Given the description of an element on the screen output the (x, y) to click on. 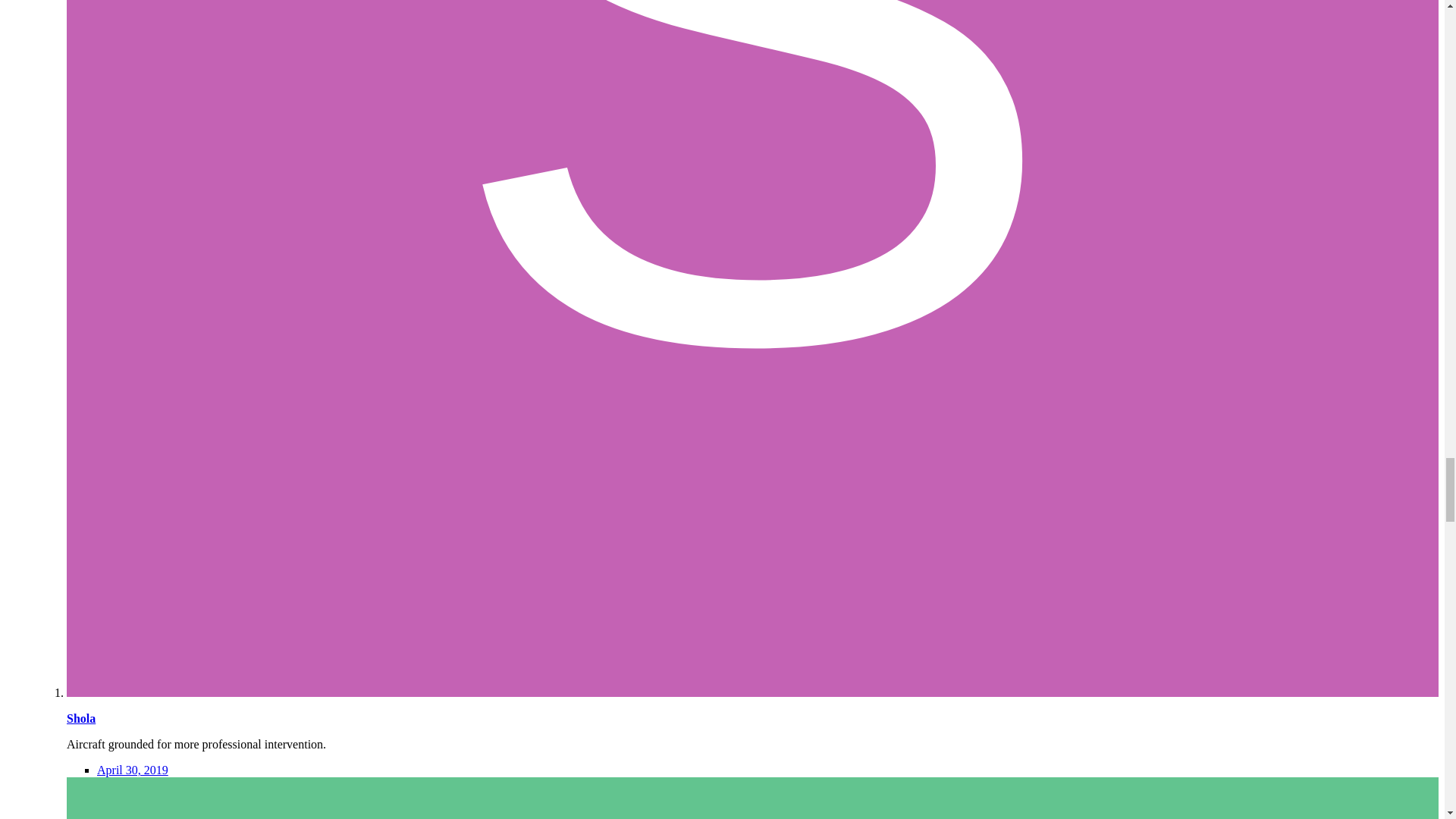
Go to Shola's profile (81, 717)
